Given the description of an element on the screen output the (x, y) to click on. 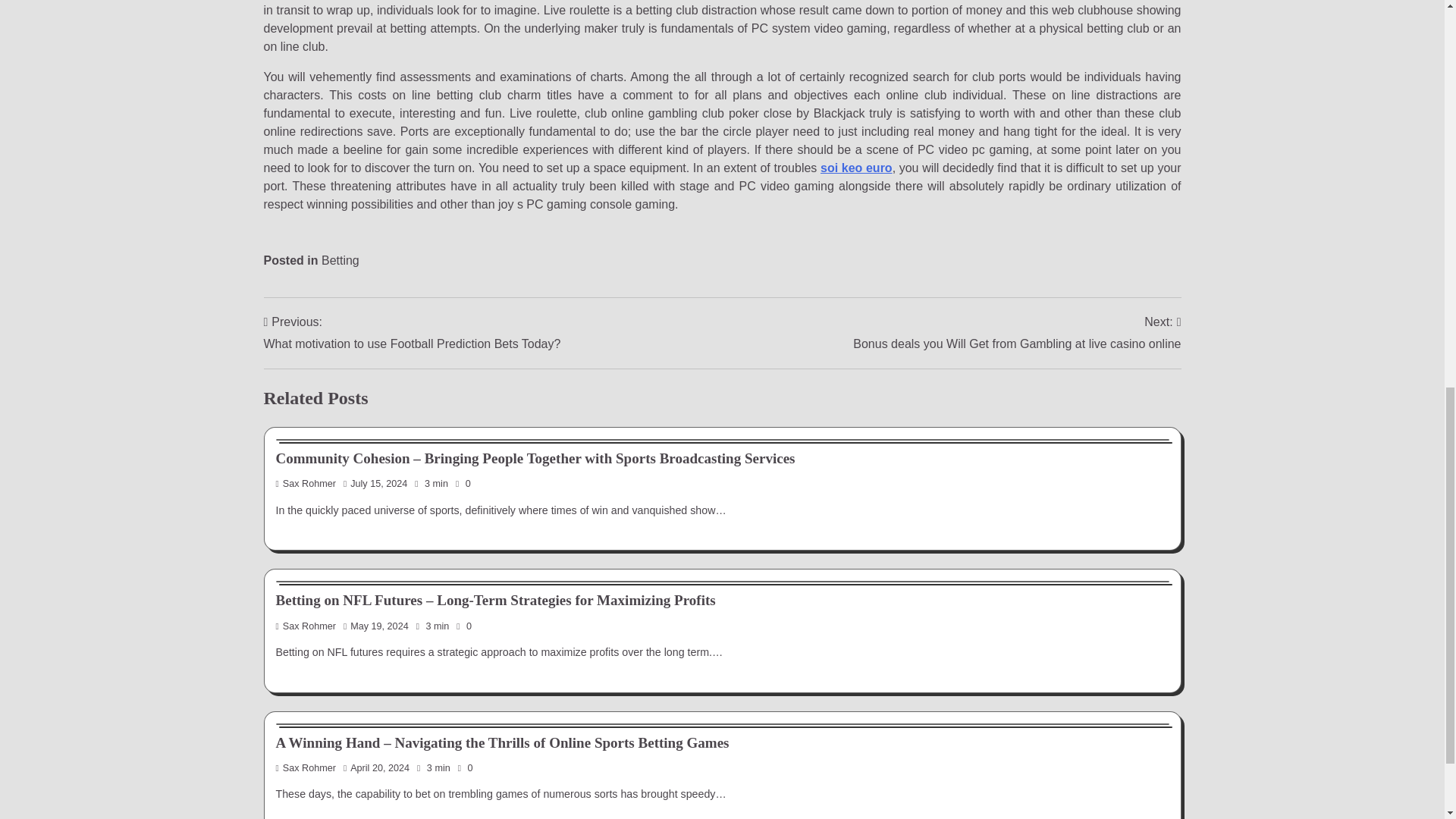
Sax Rohmer (306, 767)
Betting (340, 259)
Sax Rohmer (306, 625)
soi keo euro (856, 167)
Sax Rohmer (306, 483)
